Given the description of an element on the screen output the (x, y) to click on. 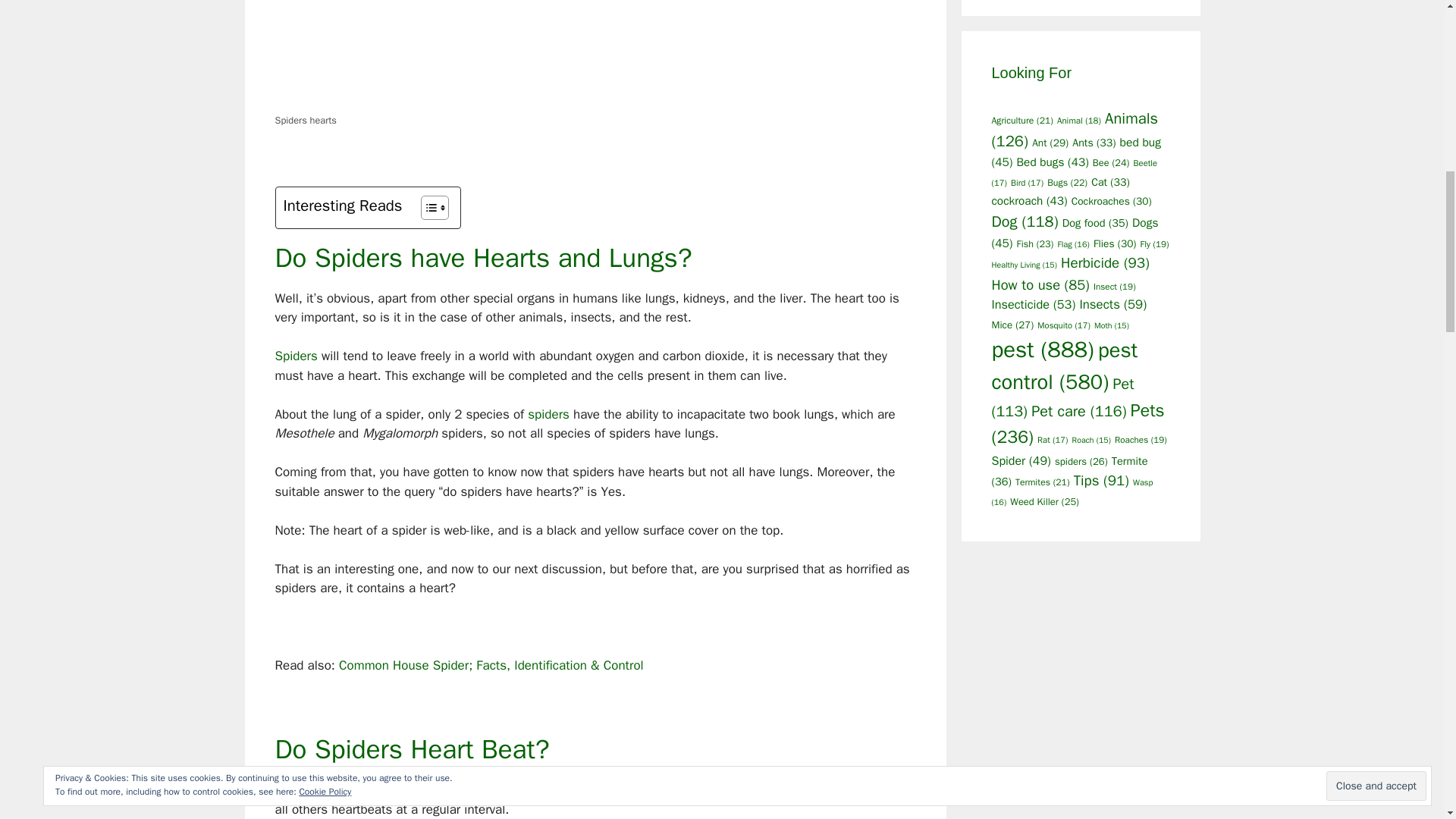
Do Spiders Have Hearts? Spiders Circulatory System 1 (433, 54)
